Given the description of an element on the screen output the (x, y) to click on. 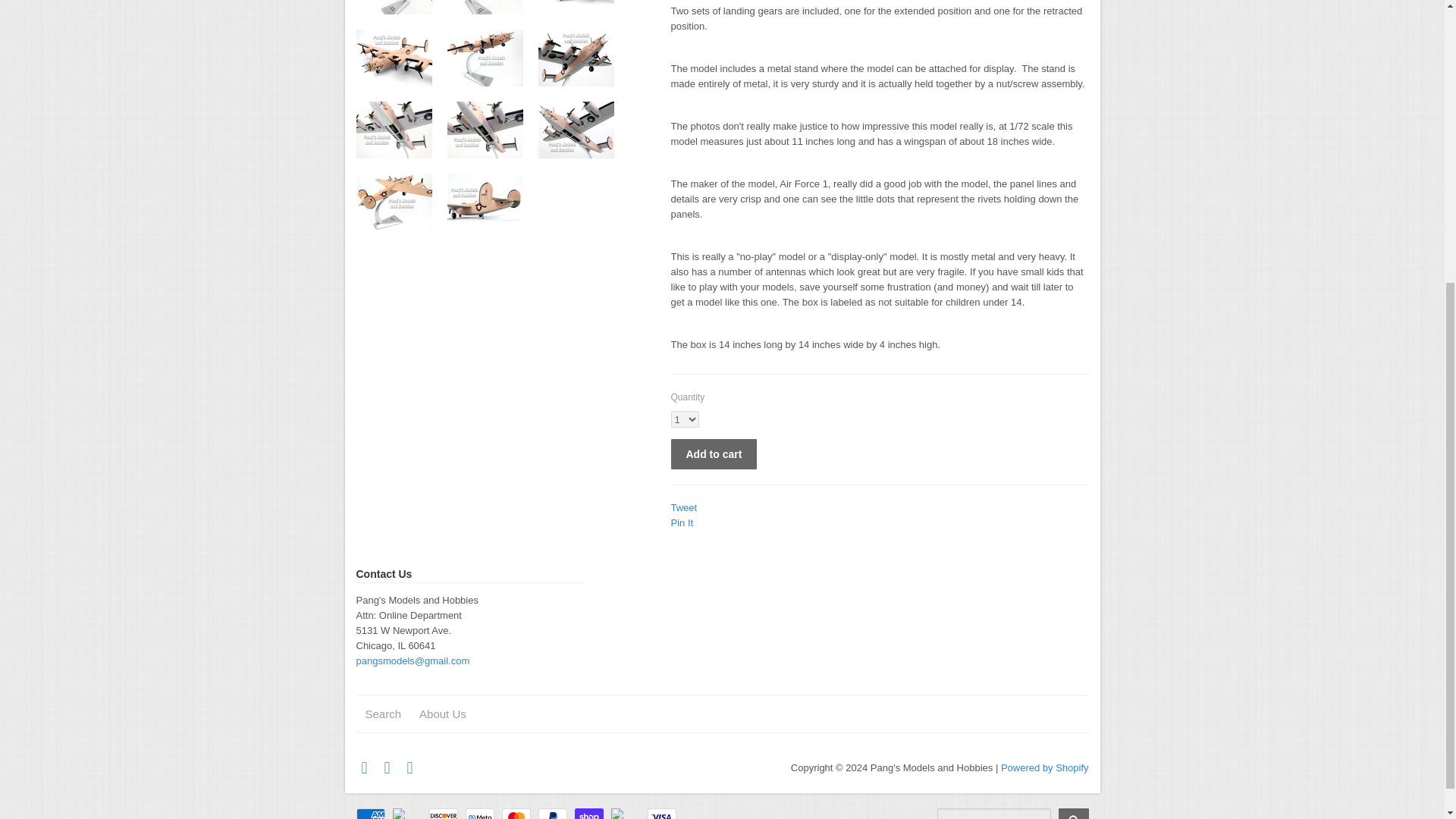
Add to cart (713, 453)
Follow us on Pinterest (388, 768)
Email us (411, 768)
Follow us on Facebook (365, 768)
